Given the description of an element on the screen output the (x, y) to click on. 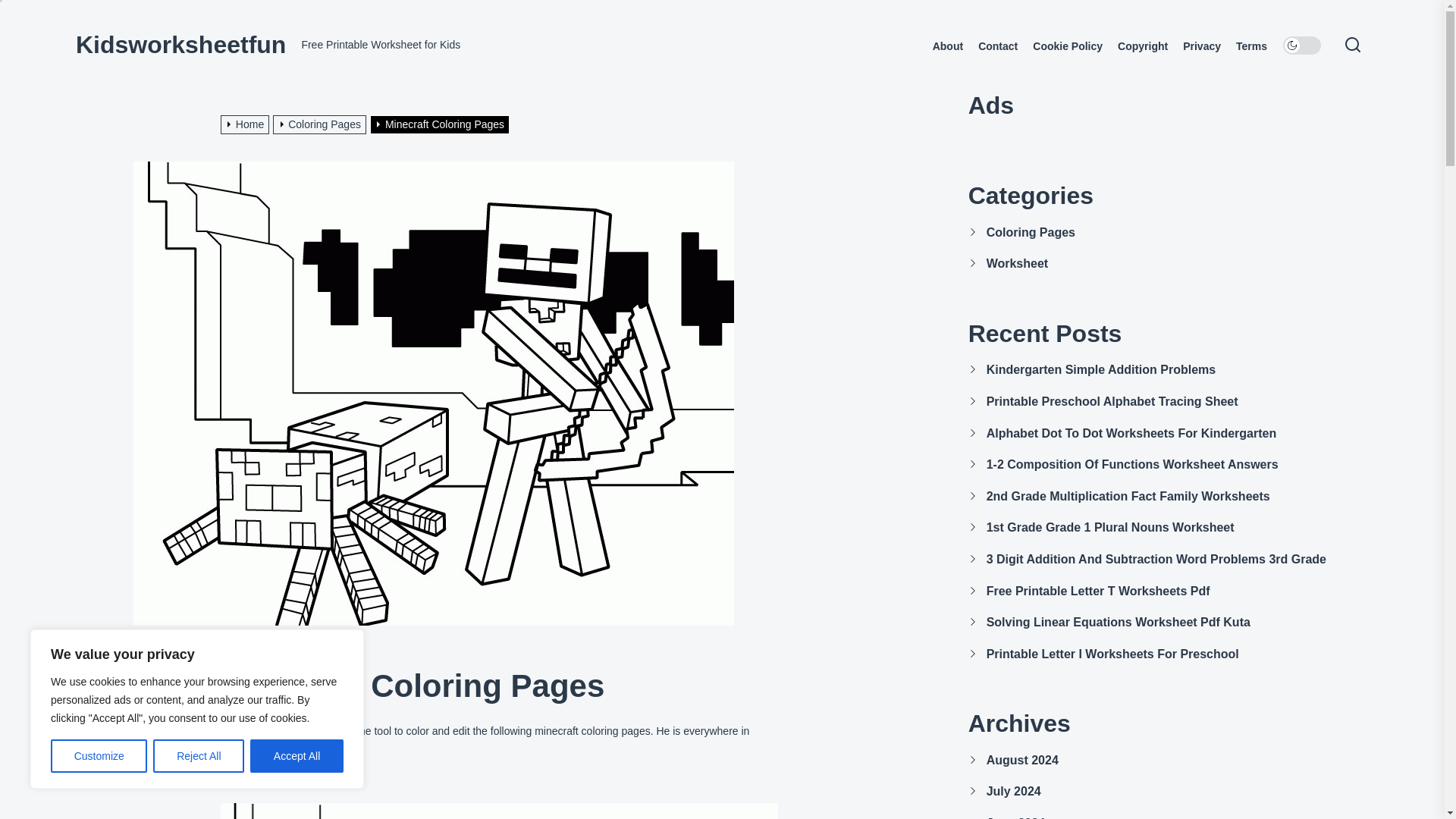
Reject All (198, 756)
About (947, 46)
COLORING PAGES (259, 657)
Home (247, 123)
Coloring Pages (321, 123)
Minecraft Coloring Pages (441, 123)
Copyright (1142, 46)
Kidsworksheetfun (180, 44)
Contact (997, 46)
Cookie Policy (1067, 46)
